Given the description of an element on the screen output the (x, y) to click on. 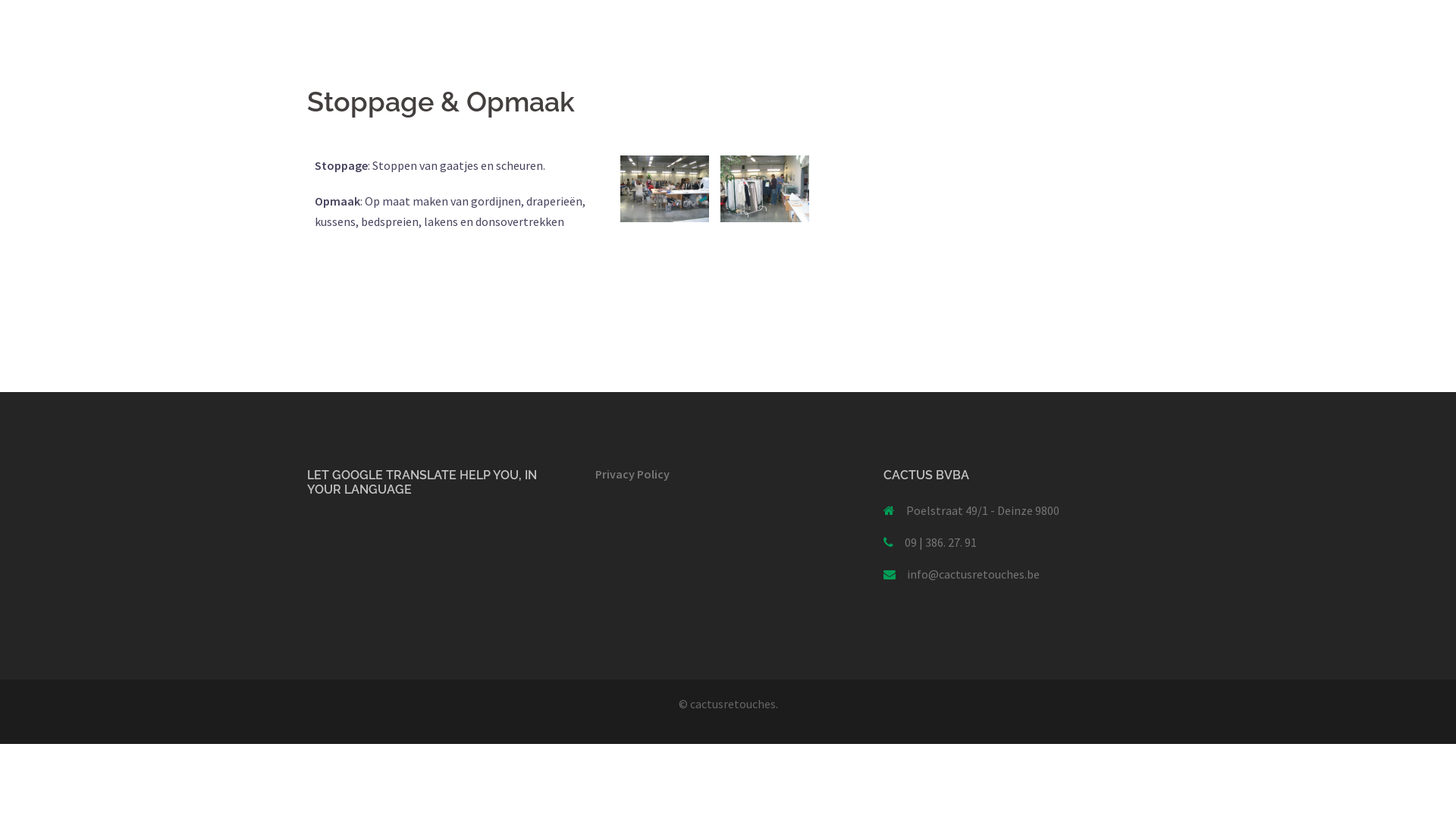
Privacy Policy Element type: text (632, 473)
cactusretouches Element type: text (732, 703)
info@cactusretouches.be Element type: text (972, 573)
